Given the description of an element on the screen output the (x, y) to click on. 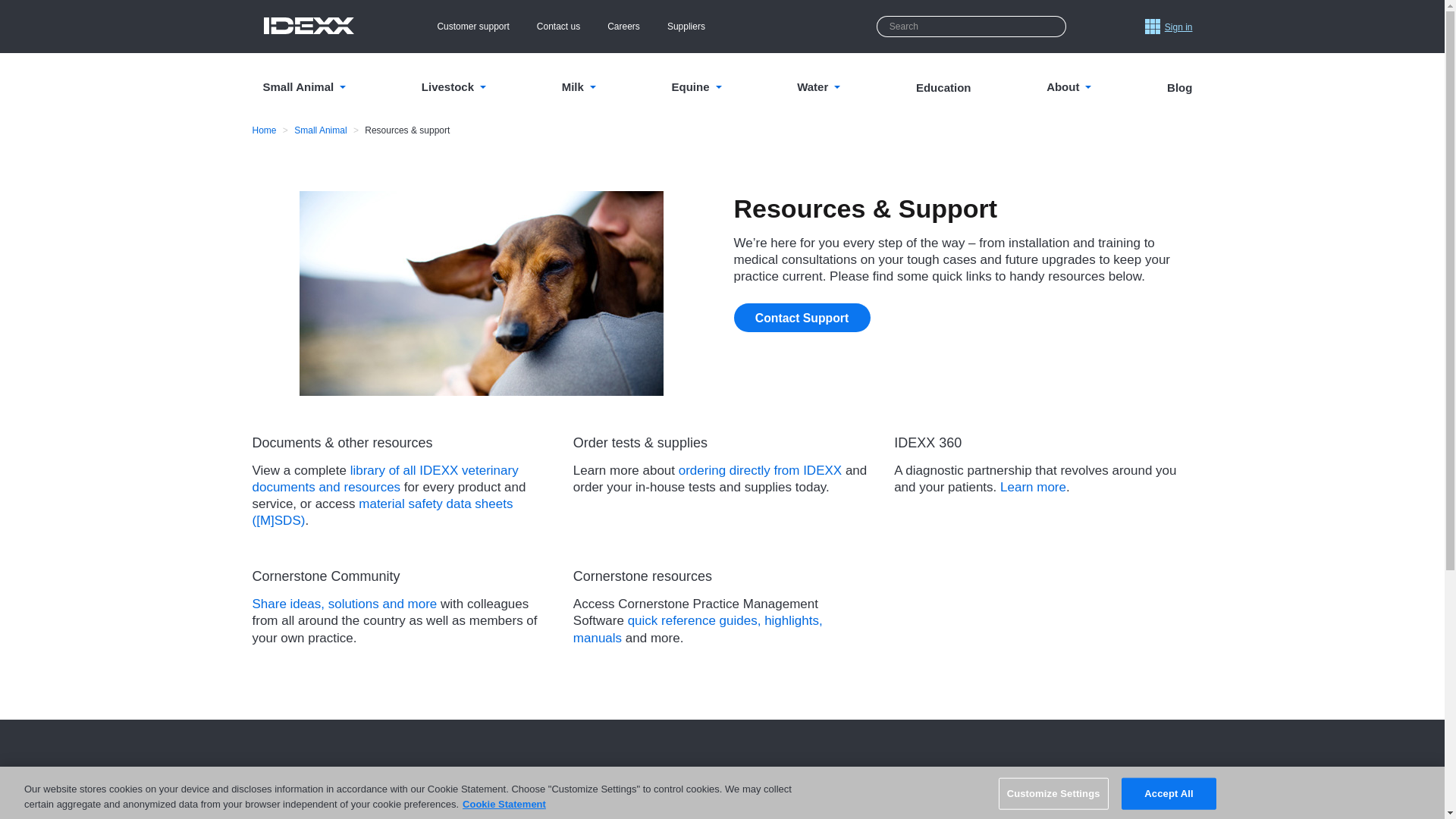
Contact us (558, 26)
Search (1052, 25)
IDEXX (308, 25)
Customer support (472, 26)
Suppliers (685, 26)
